Given the description of an element on the screen output the (x, y) to click on. 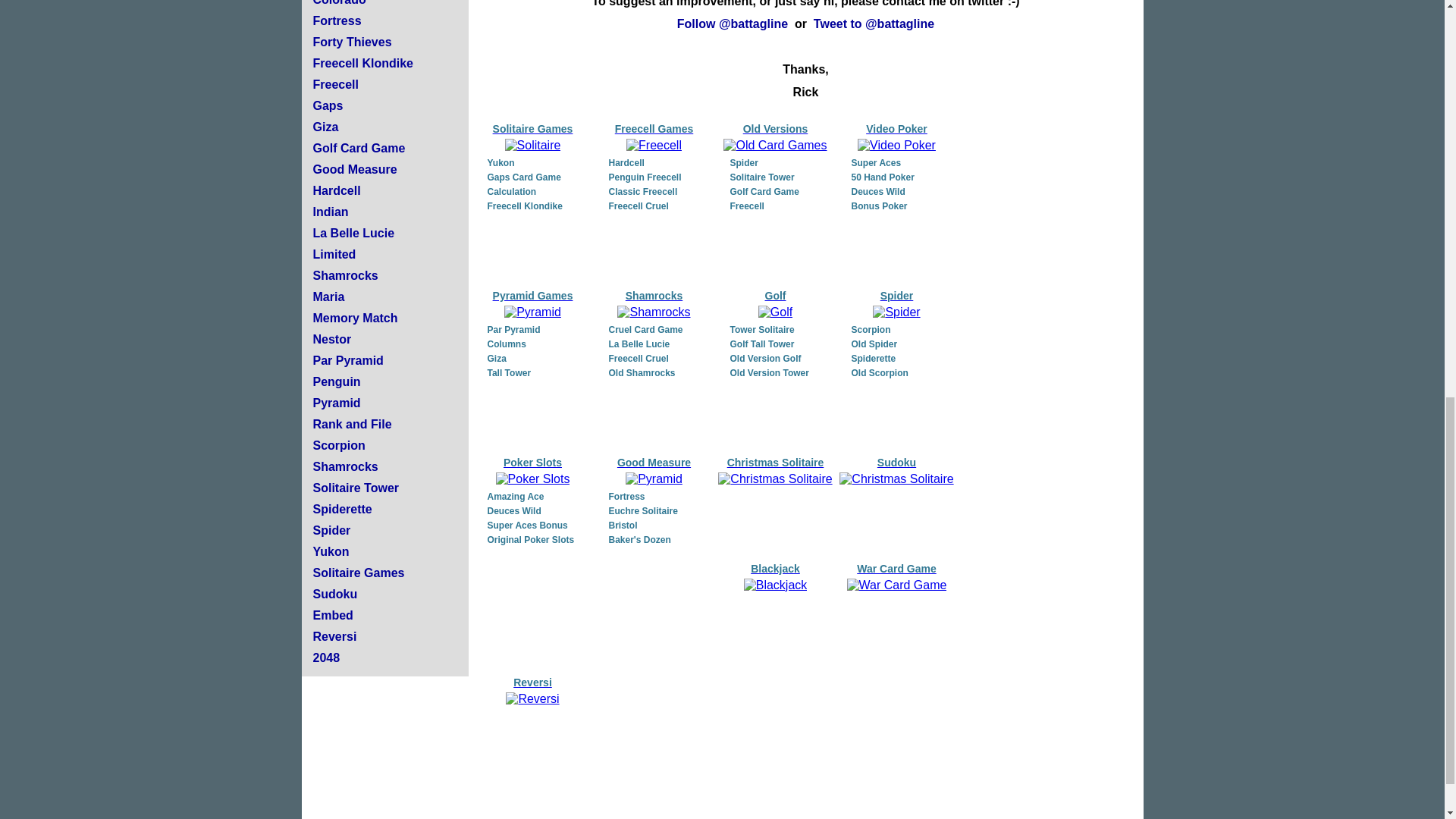
Freecell Klondike (363, 62)
La Belle Lucie (353, 232)
Memory Match (355, 318)
Solitaire Tower (355, 487)
Par Pyramid (347, 359)
Shamrocks (345, 466)
Freecell (335, 83)
Maria (328, 296)
Rank and File (352, 423)
Good Measure (354, 169)
Forty Thieves (352, 42)
Colorado (339, 2)
Gaps (327, 105)
Golf Card Game (358, 147)
Penguin (336, 381)
